Given the description of an element on the screen output the (x, y) to click on. 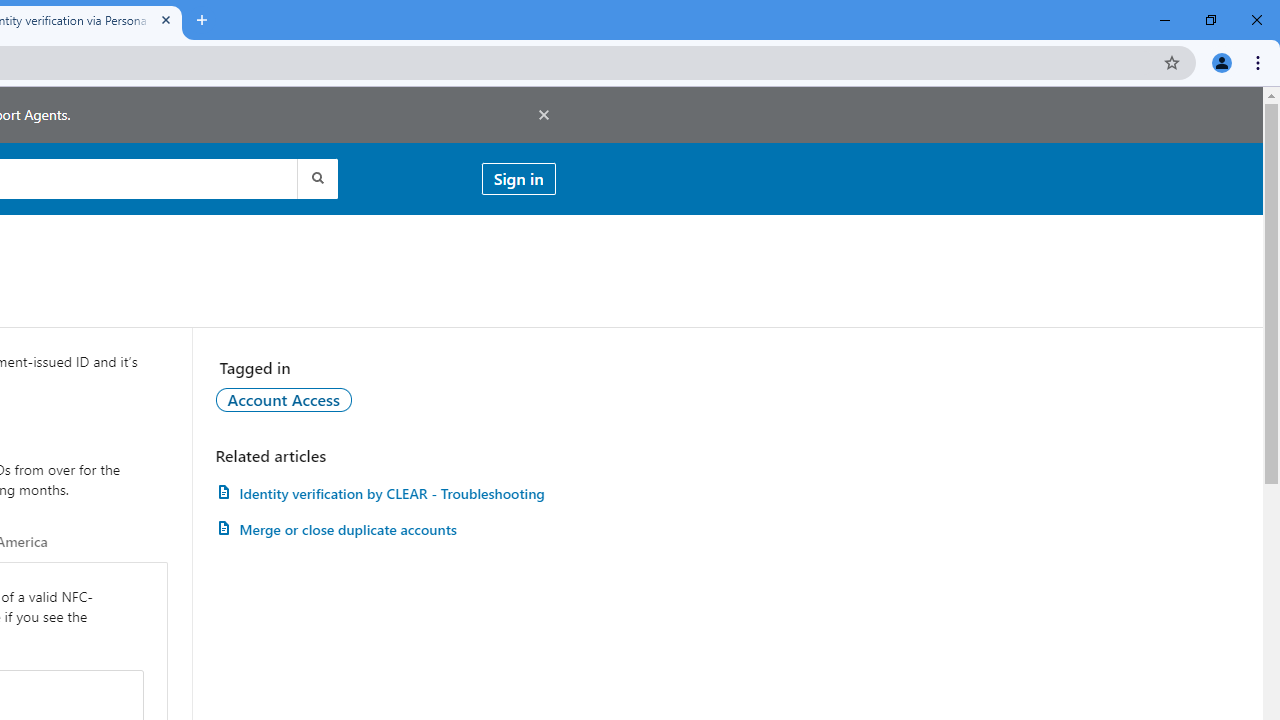
AutomationID: topic-link-a151002 (283, 399)
Account Access (283, 399)
Merge or close duplicate accounts (385, 529)
AutomationID: article-link-a1457505 (385, 493)
Submit search (316, 178)
Identity verification by CLEAR - Troubleshooting (385, 493)
